Given the description of an element on the screen output the (x, y) to click on. 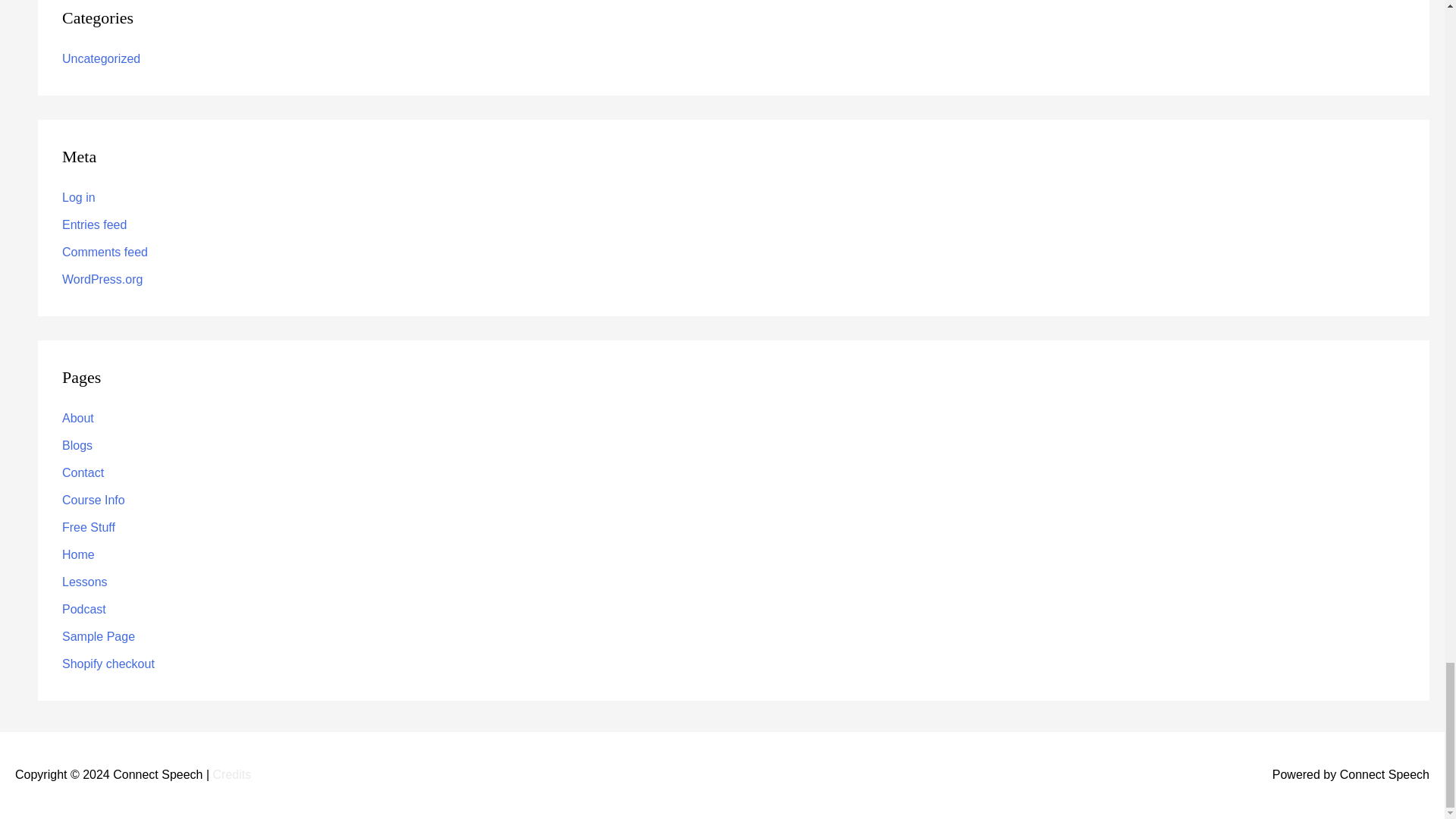
Comments feed (105, 251)
Log in (79, 196)
WordPress.org (102, 278)
Lessons (84, 581)
Entries feed (94, 224)
Uncategorized (100, 58)
Shopify checkout (108, 663)
Contact (82, 472)
Credits (231, 774)
Free Stuff (88, 526)
Course Info (93, 499)
Sample Page (98, 635)
Blogs (77, 445)
About (78, 418)
Podcast (84, 608)
